Given the description of an element on the screen output the (x, y) to click on. 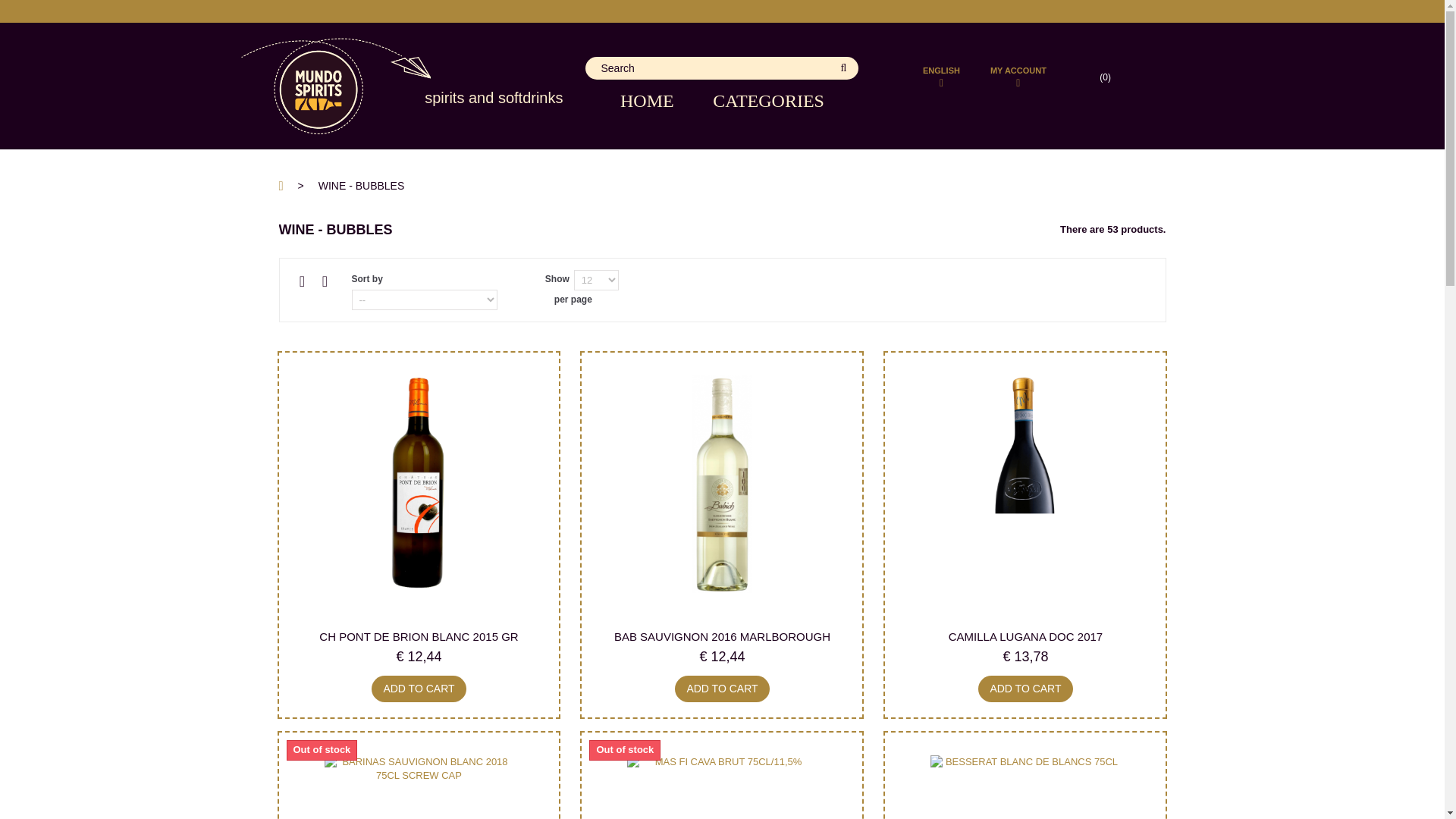
MUNDO SPIRITS (354, 85)
Home (656, 100)
HOME (656, 100)
